Given the description of an element on the screen output the (x, y) to click on. 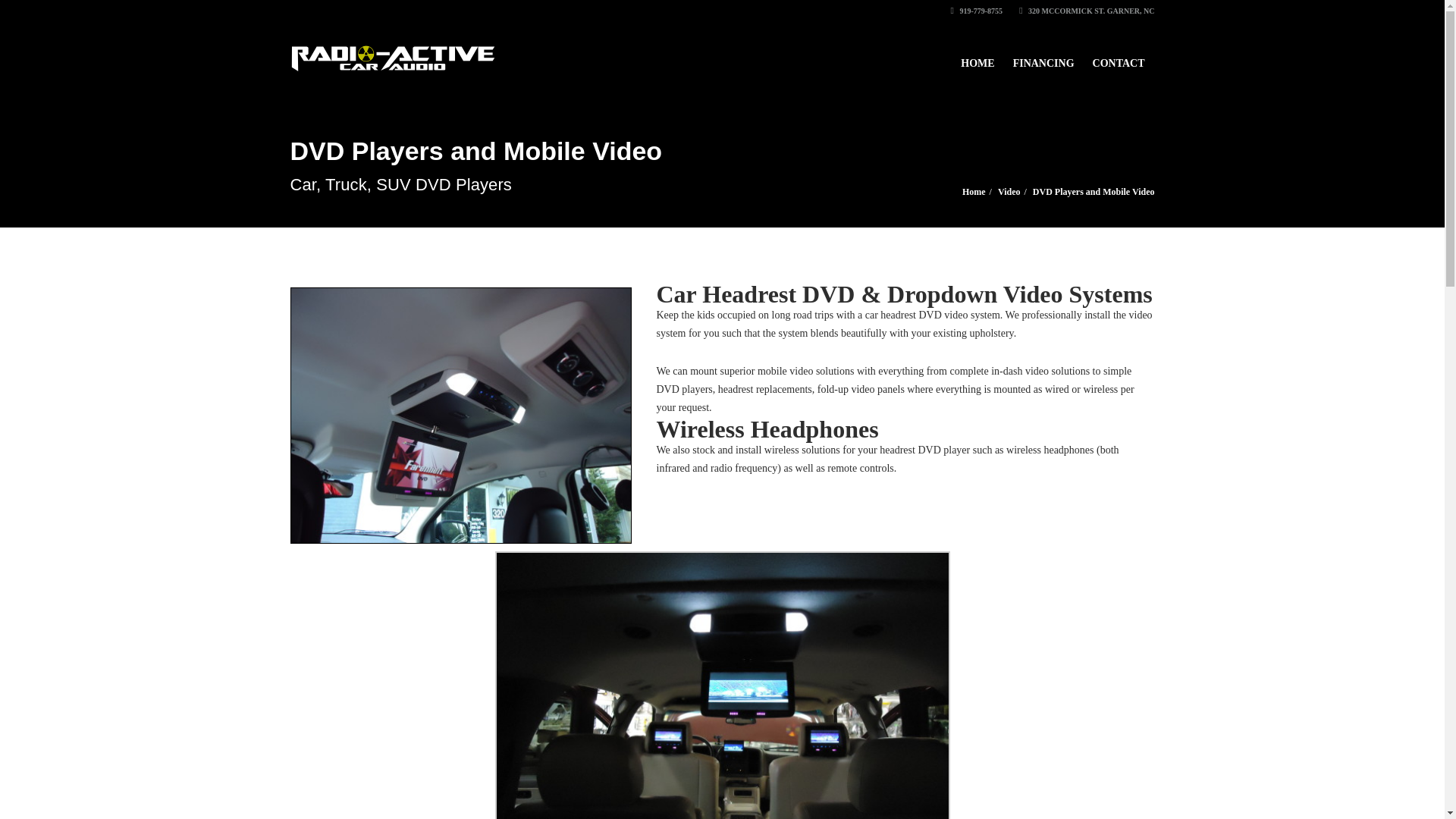
Home (973, 191)
320 MCCORMICK ST. GARNER, NC (1086, 10)
919-779-8755 (976, 10)
DVD Players and Mobile Video (1093, 191)
Video (1008, 191)
CONTACT (1118, 56)
FINANCING (1043, 56)
